Given the description of an element on the screen output the (x, y) to click on. 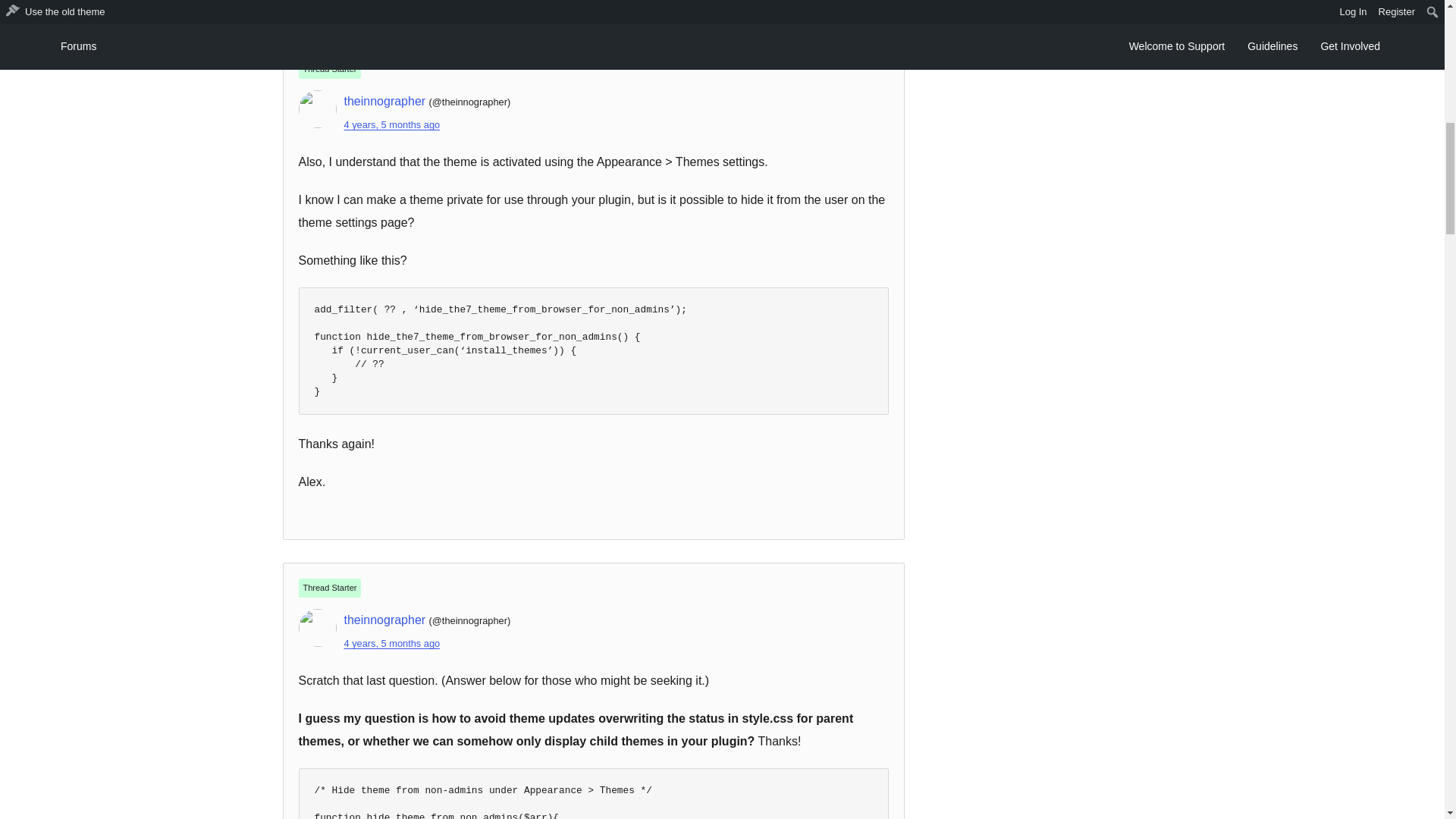
January 30, 2020 at 3:34 am (392, 643)
January 30, 2020 at 3:12 am (392, 124)
This person created the thread (329, 68)
View theinnographer's profile (384, 101)
View theinnographer's profile (384, 619)
This person created the thread (329, 587)
